Given the description of an element on the screen output the (x, y) to click on. 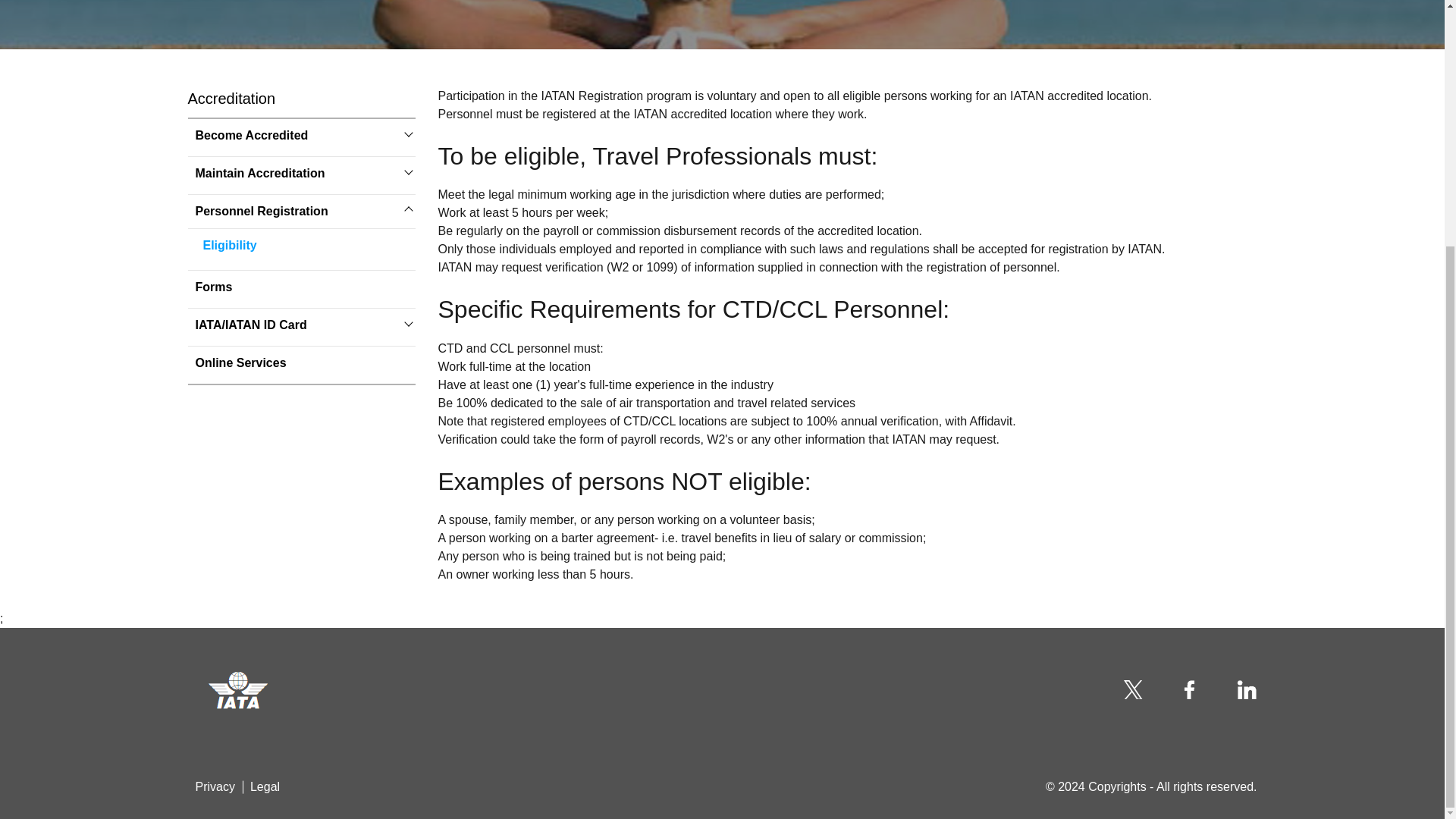
Accreditation (231, 97)
Become Accredited (251, 135)
Maintain Accreditation (259, 173)
Iatan Facebook (1189, 688)
Iatan Linkedin (1246, 688)
